Given the description of an element on the screen output the (x, y) to click on. 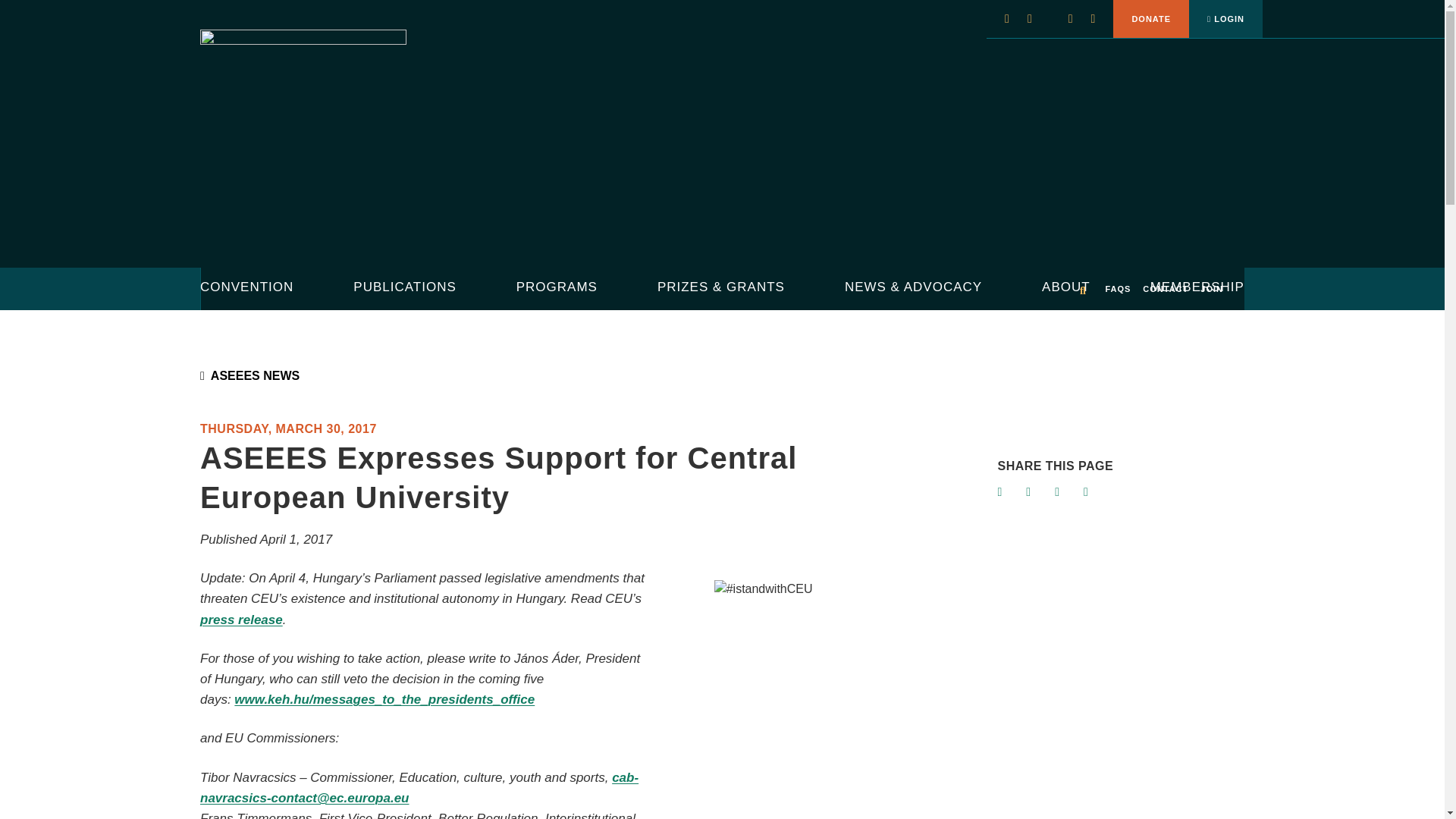
DONATE (1151, 18)
PROGRAMS (556, 287)
CONVENTION (247, 287)
PUBLICATIONS (404, 287)
LOGIN (1225, 18)
